Given the description of an element on the screen output the (x, y) to click on. 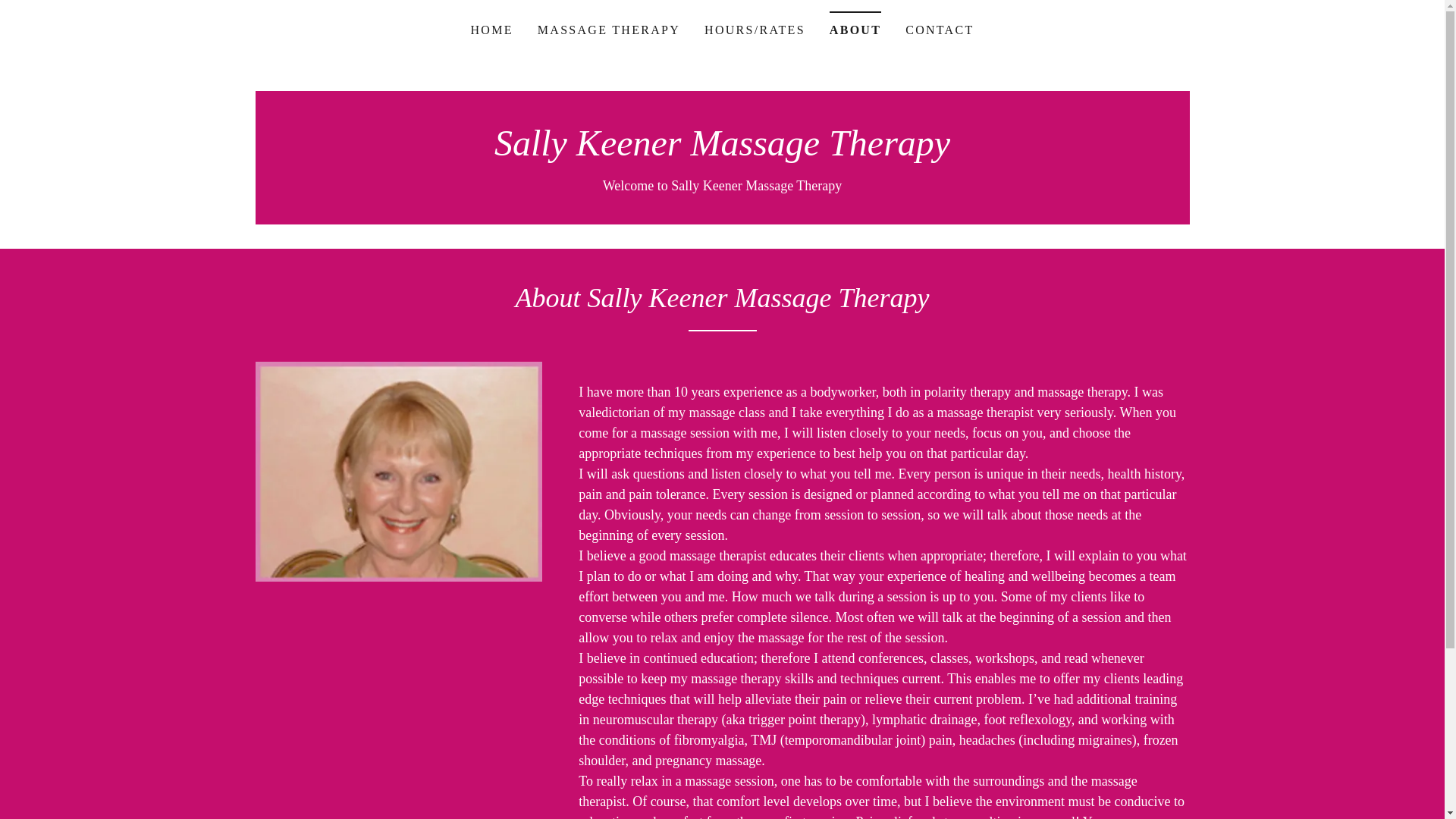
ABOUT (854, 25)
CONTACT (939, 30)
Sally Keener Massage Therapy (722, 150)
Sally Keener Massage Therapy (722, 150)
HOME (491, 30)
MASSAGE THERAPY (608, 30)
